Given the description of an element on the screen output the (x, y) to click on. 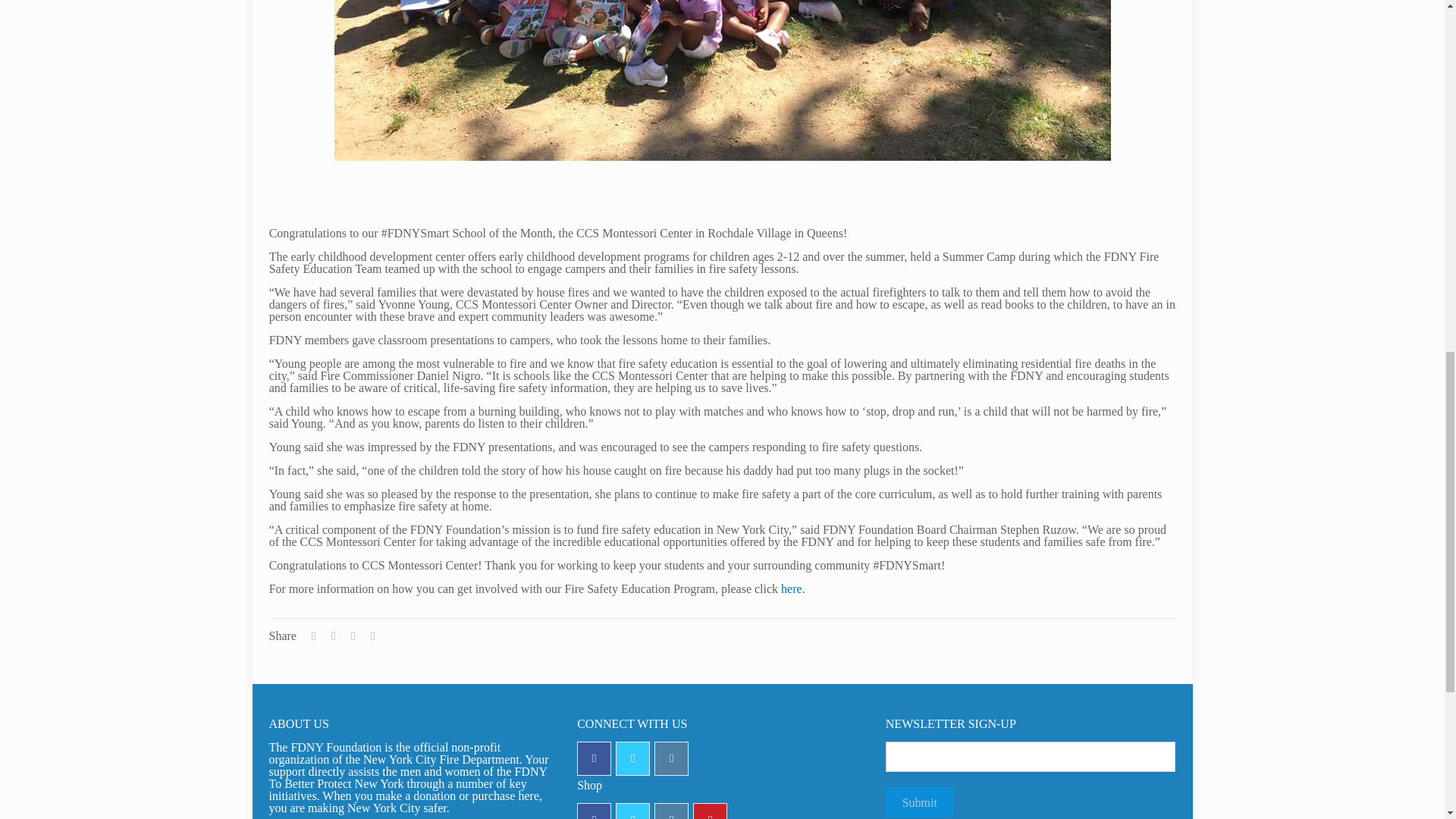
here. (792, 588)
Submit (919, 802)
Submit (919, 802)
